Given the description of an element on the screen output the (x, y) to click on. 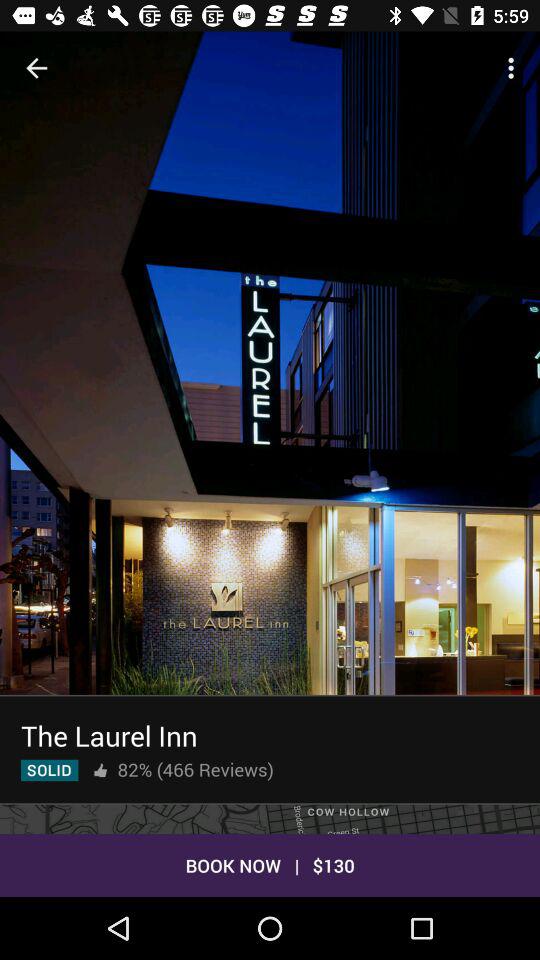
jump to the the laurel inn (109, 735)
